Given the description of an element on the screen output the (x, y) to click on. 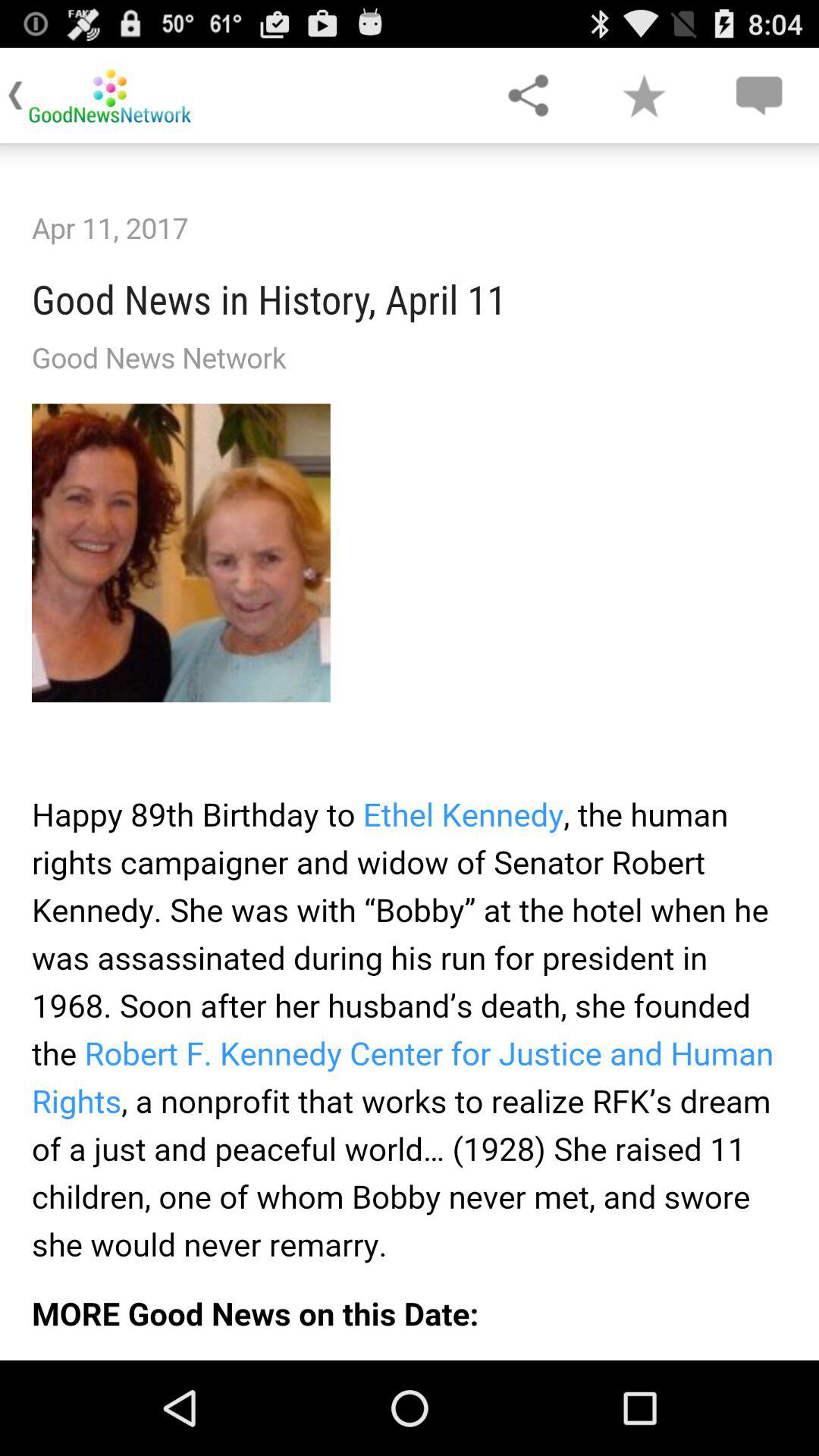
sharing button (527, 95)
